Given the description of an element on the screen output the (x, y) to click on. 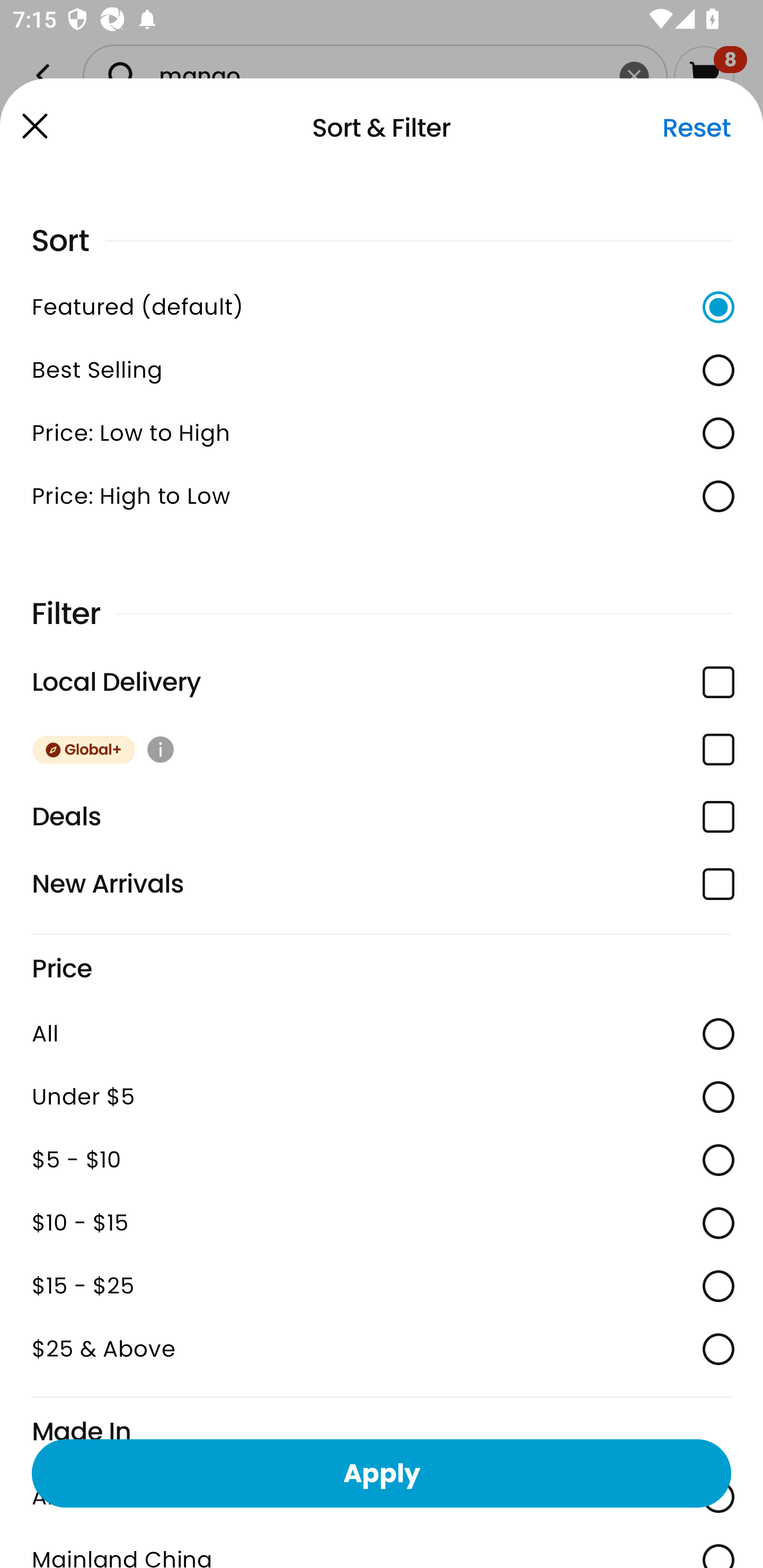
Reset (696, 127)
Apply (381, 1472)
